Given the description of an element on the screen output the (x, y) to click on. 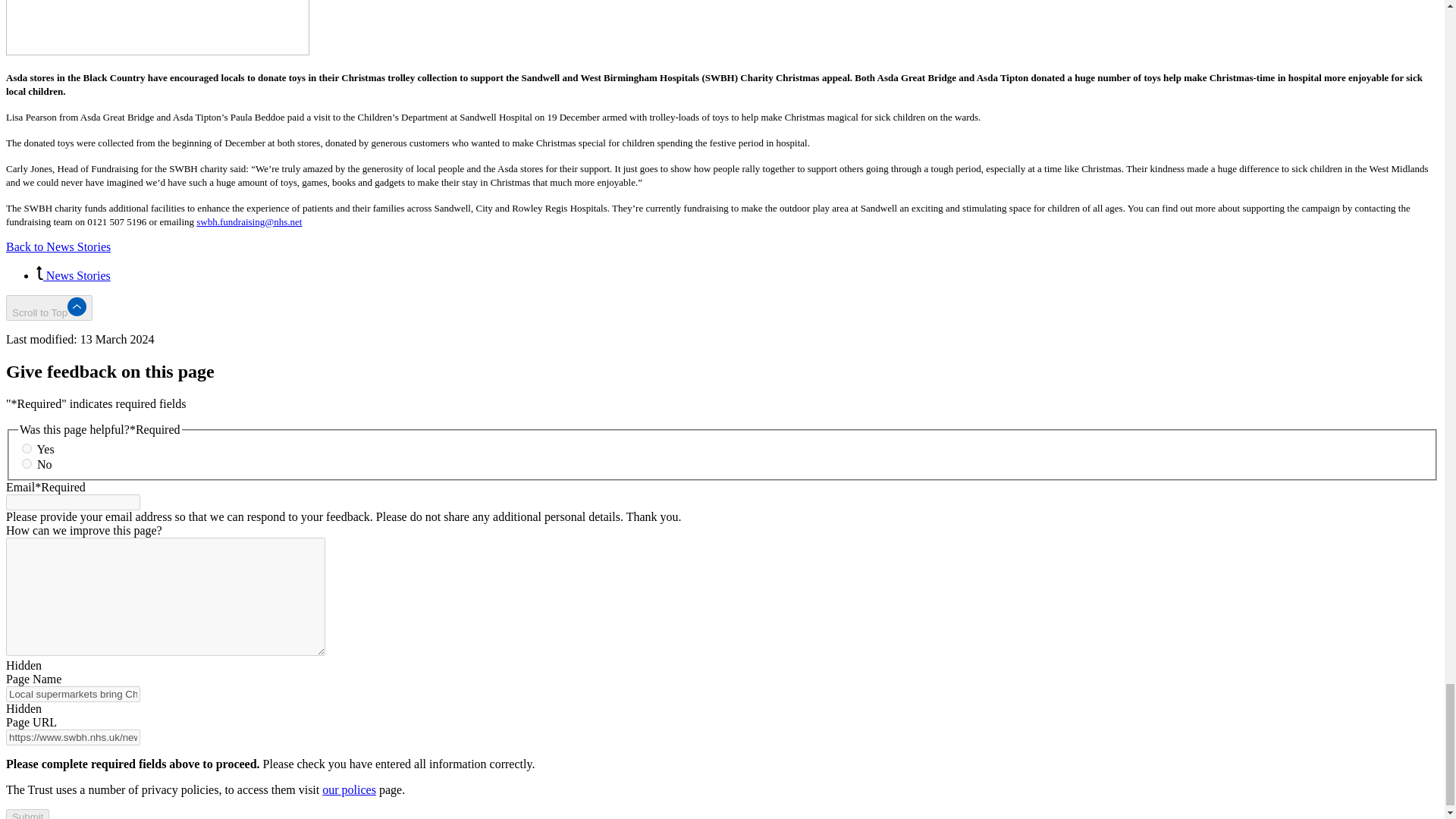
Yes (26, 448)
Scroll to Top (49, 307)
No (26, 463)
